Given the description of an element on the screen output the (x, y) to click on. 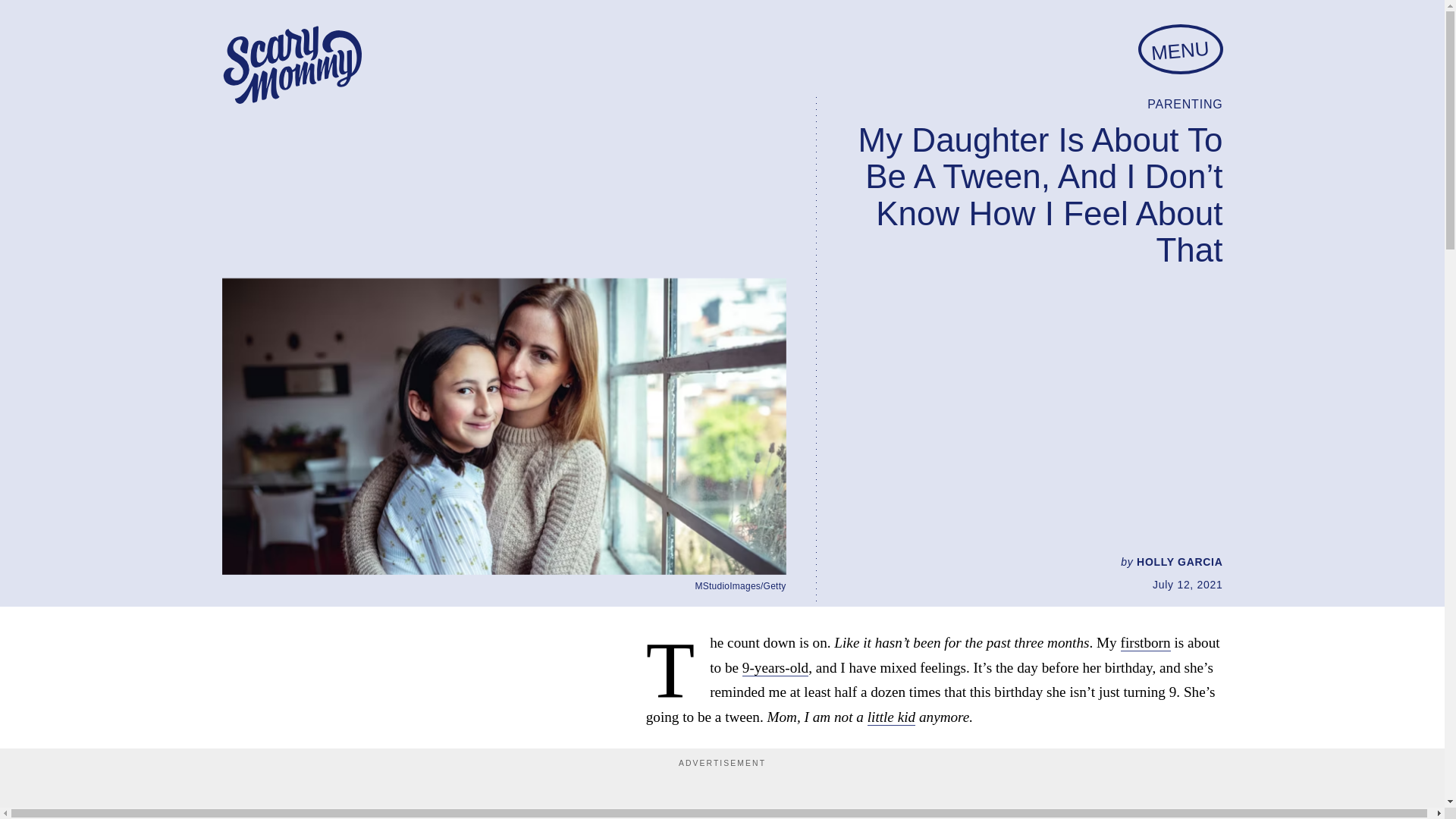
Scary Mommy (291, 64)
firstborn (1145, 642)
9-years-old (775, 668)
little kid (891, 717)
